Given the description of an element on the screen output the (x, y) to click on. 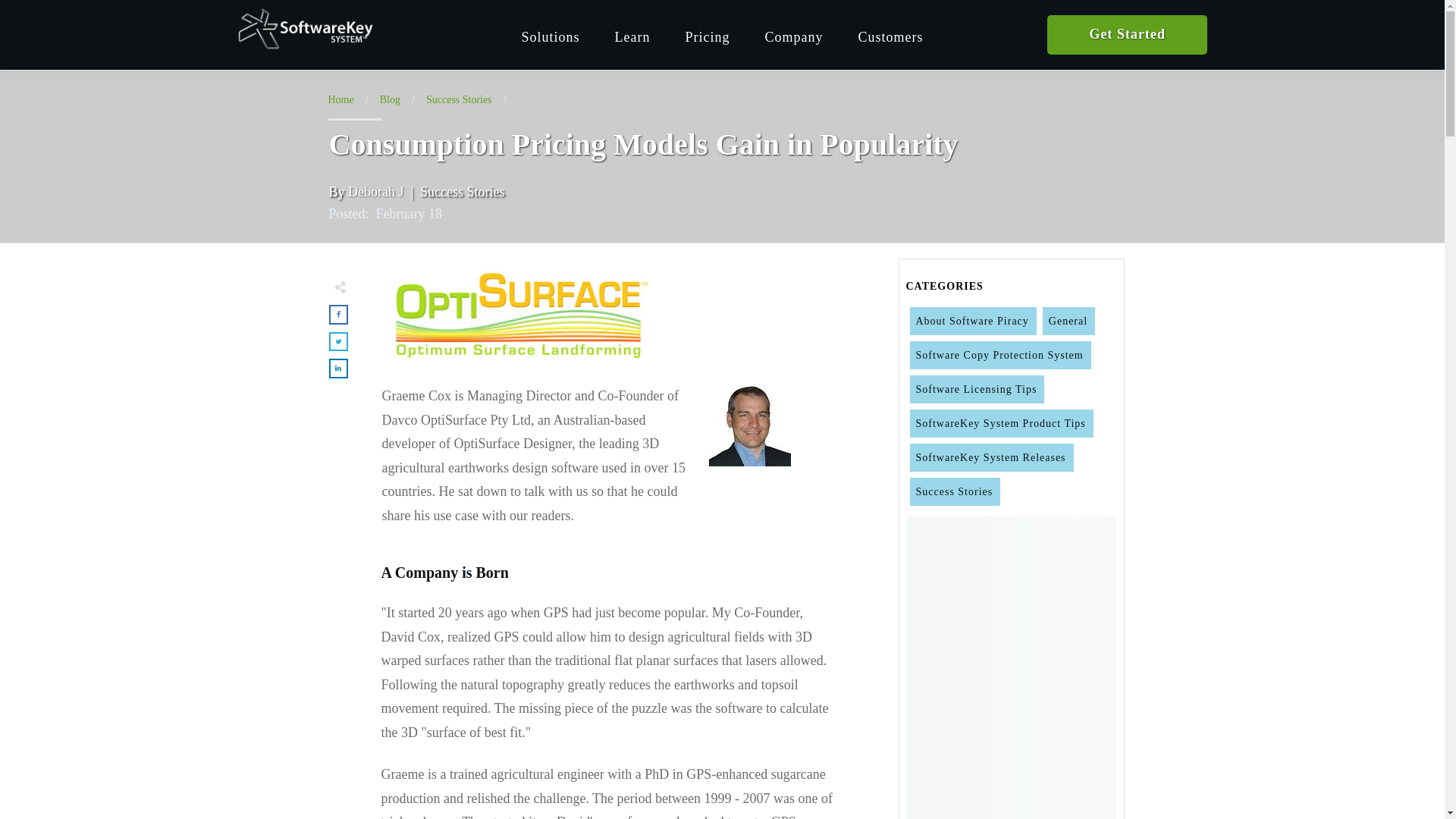
Customers (890, 36)
Company (793, 36)
Pricing (706, 36)
Learn (632, 36)
Blog (390, 99)
Success Stories (459, 99)
Home (340, 99)
Consumption Pricing Models Gain in Popularity (516, 313)
Solutions (550, 36)
Get Started (1127, 34)
